Given the description of an element on the screen output the (x, y) to click on. 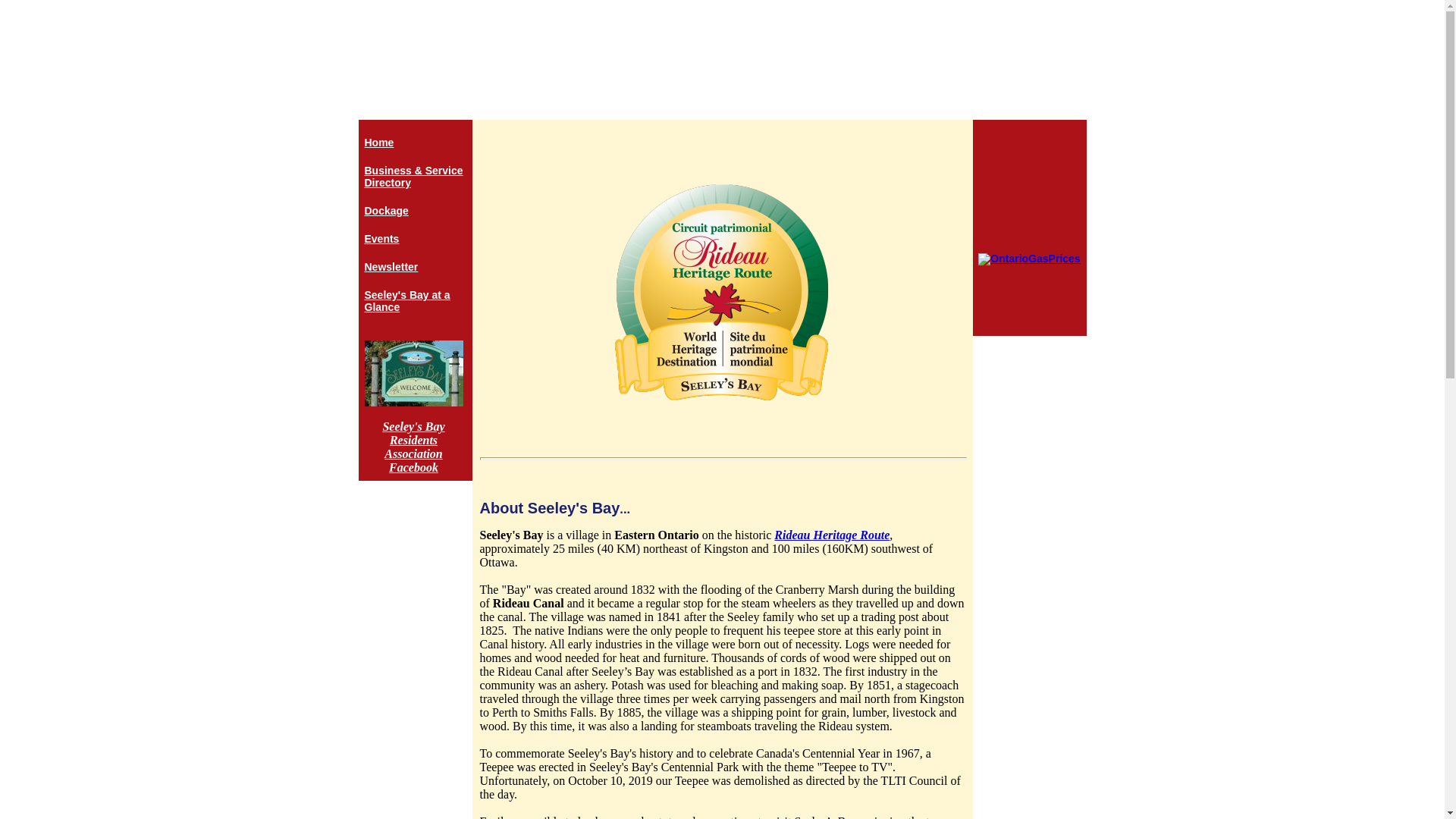
Dockage (413, 210)
SEELEY'S BAY WEATHER (1029, 180)
Events (413, 238)
Rideau Heritage Route (831, 534)
Weather Widget (1029, 180)
Seeley's Bay at a Glance (413, 300)
Home (413, 142)
Newsletter (413, 266)
